Given the description of an element on the screen output the (x, y) to click on. 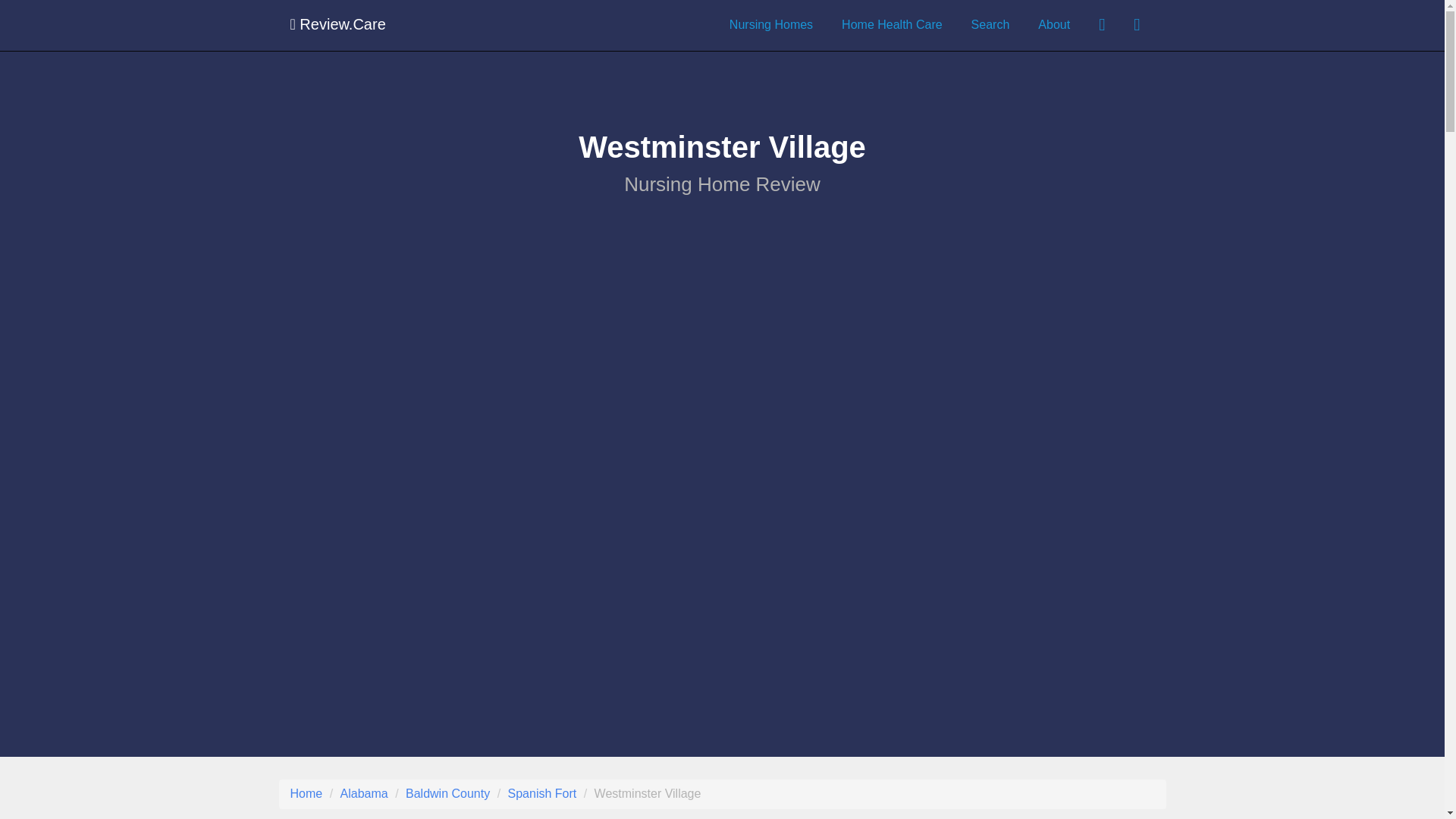
Home (305, 793)
Baldwin County (447, 793)
About (1053, 24)
Home Health Care (891, 24)
Nursing Homes (770, 24)
Spanish Fort (542, 793)
Search (990, 24)
Alabama (364, 793)
Advertisement (722, 535)
Review.Care (338, 24)
